Given the description of an element on the screen output the (x, y) to click on. 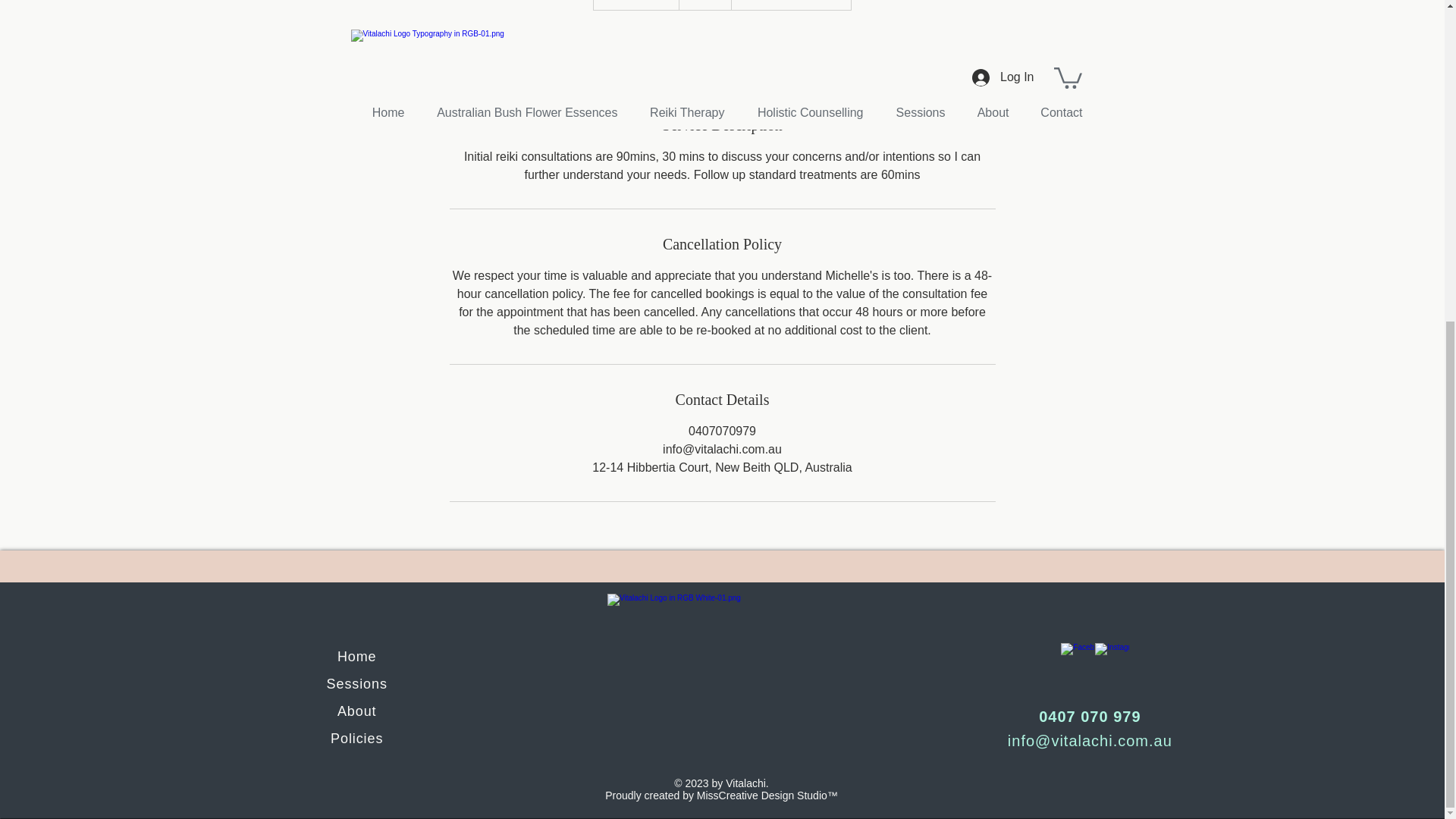
Policies (356, 738)
Sessions (356, 683)
About (357, 711)
0407 070 979 (1089, 716)
Home (357, 656)
Book Now (721, 50)
